Given the description of an element on the screen output the (x, y) to click on. 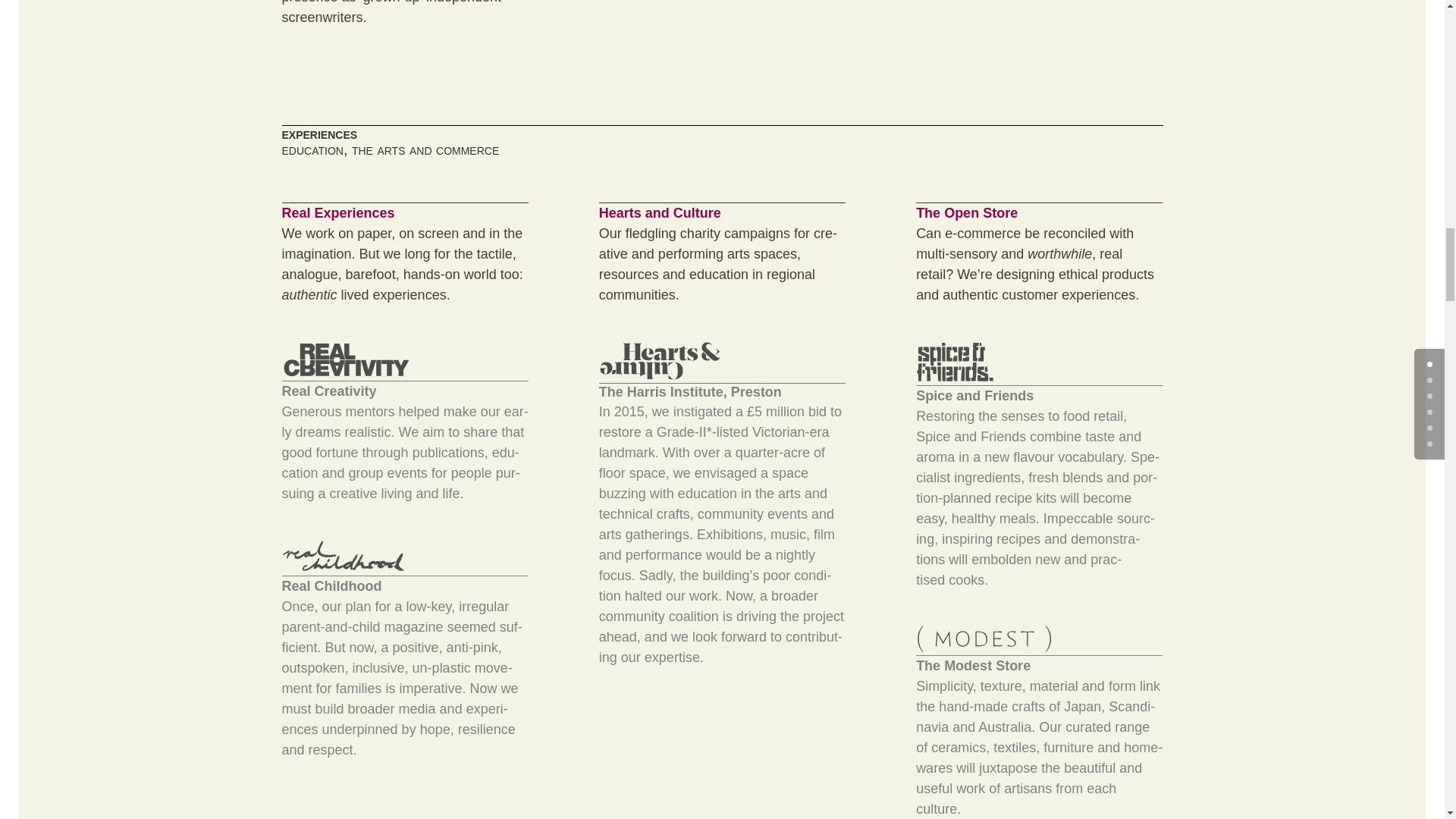
Real Childhood (344, 555)
Real Creativity (346, 359)
Spice and Friends (954, 361)
Hearts and Culture (660, 360)
